Given the description of an element on the screen output the (x, y) to click on. 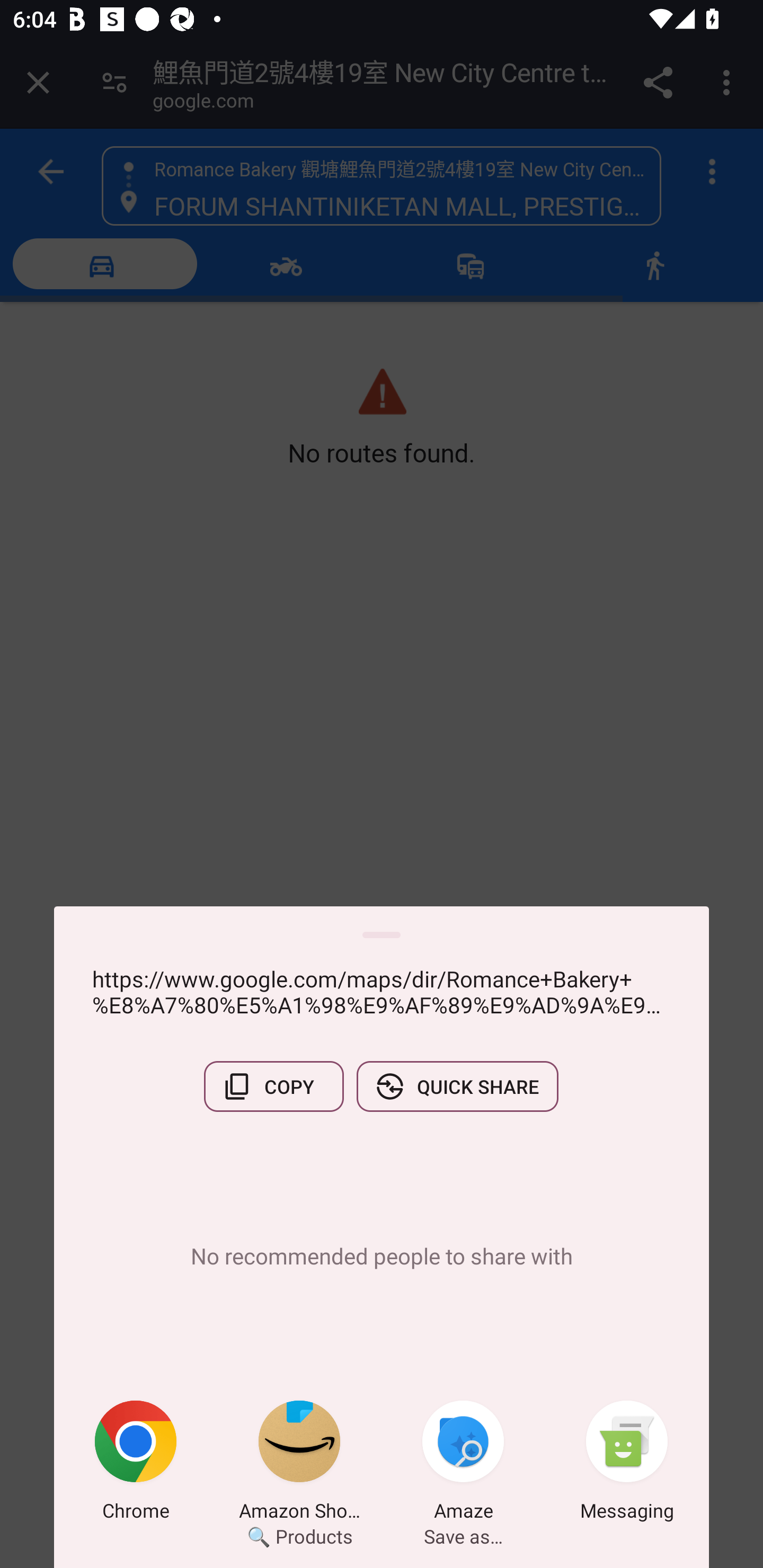
COPY (273, 1086)
QUICK SHARE (457, 1086)
Chrome (135, 1463)
Amazon Shopping 🔍 Products (299, 1463)
Amaze Save as… (463, 1463)
Messaging (626, 1463)
